Given the description of an element on the screen output the (x, y) to click on. 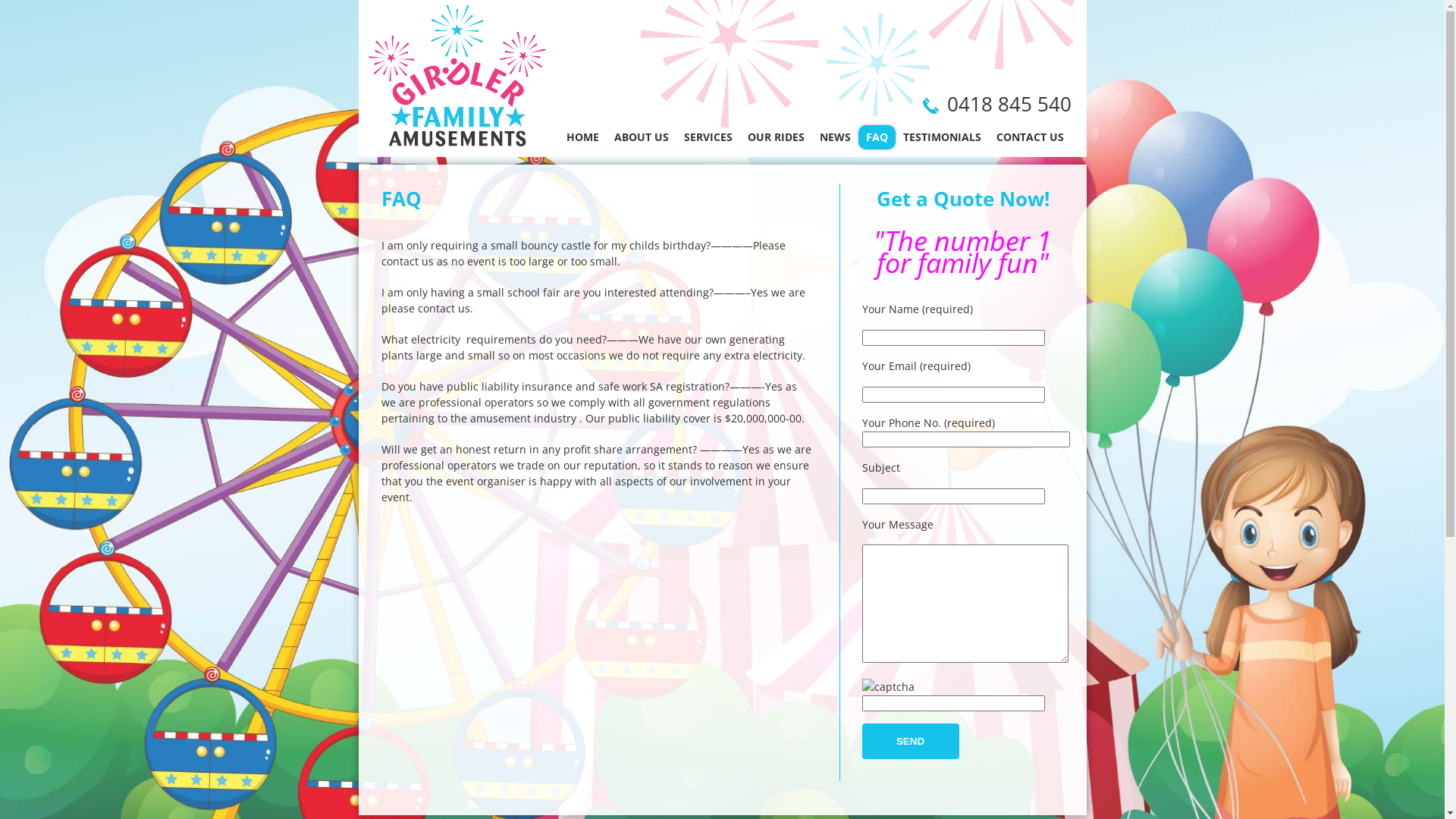
OUR RIDES Element type: text (776, 137)
0418 845 540 Element type: text (1008, 103)
NEWS Element type: text (834, 137)
HOME Element type: text (581, 137)
ABOUT US Element type: text (641, 137)
Girdler Family Amusements Element type: text (451, 78)
FAQ Element type: text (876, 137)
TESTIMONIALS Element type: text (941, 137)
CONTACT US Element type: text (1029, 137)
Send Element type: text (909, 741)
SERVICES Element type: text (708, 137)
